Given the description of an element on the screen output the (x, y) to click on. 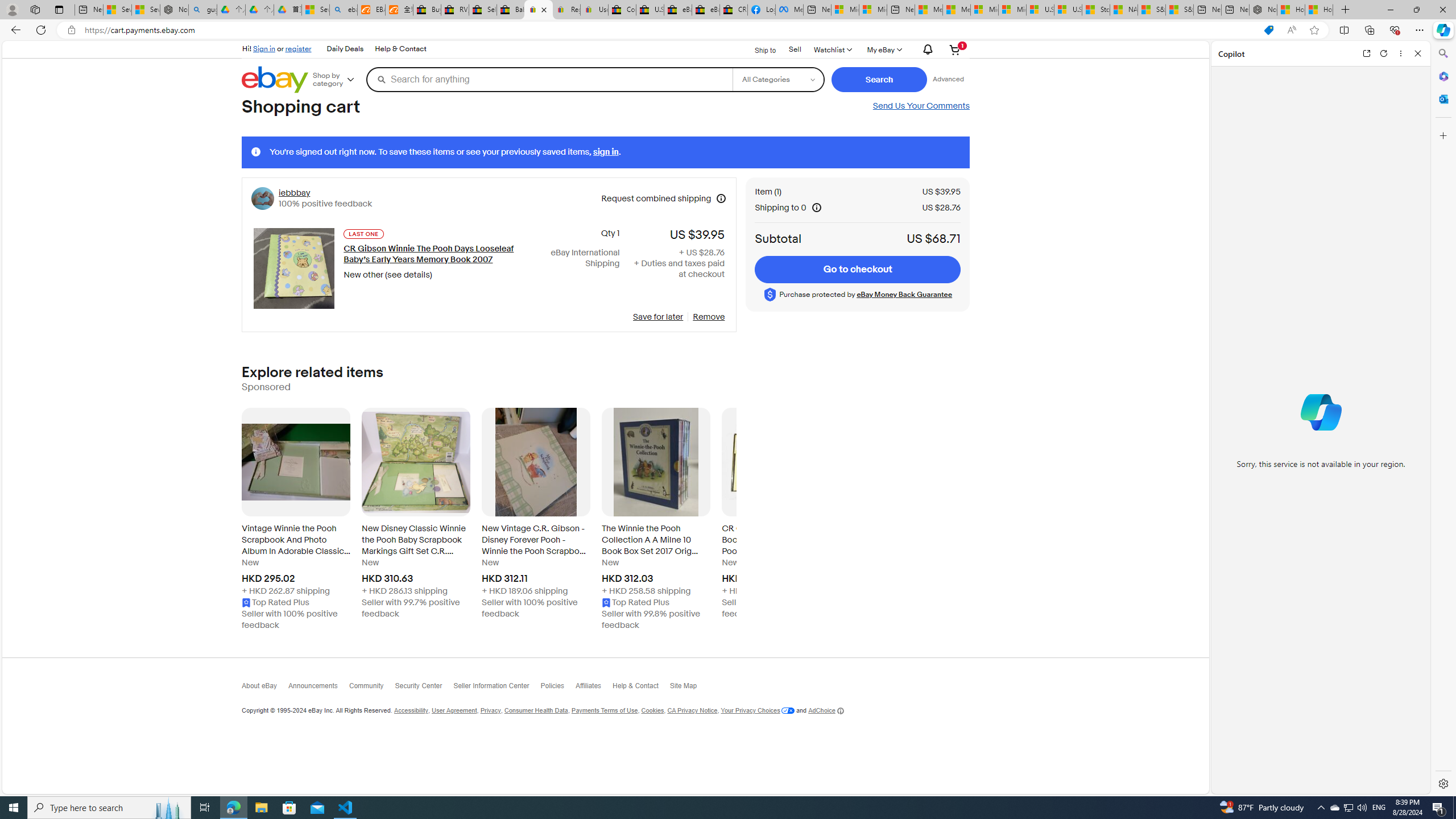
Sell (794, 49)
How to Use a Monitor With Your Closed Laptop (1319, 9)
Information about shipping options and costs (816, 207)
Privacy (490, 710)
Log into Facebook (761, 9)
Community (370, 688)
Security Center (424, 688)
About eBay (264, 688)
Policies (557, 688)
Daily Deals (345, 49)
Information (255, 152)
Outlook (1442, 98)
